Given the description of an element on the screen output the (x, y) to click on. 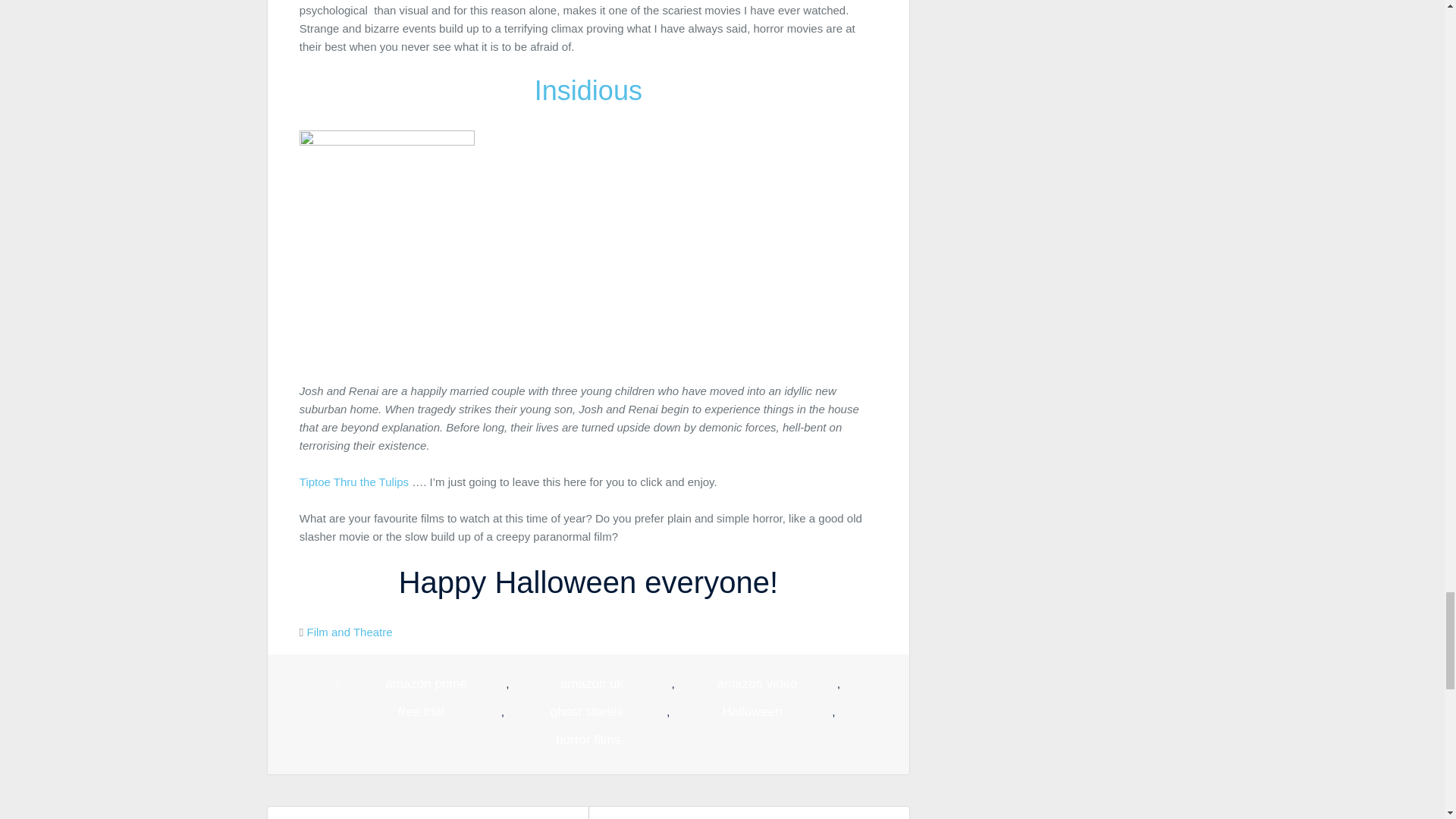
Tiptoe Thru the Tulips (354, 481)
Film and Theatre (348, 631)
Insidious (588, 90)
